Given the description of an element on the screen output the (x, y) to click on. 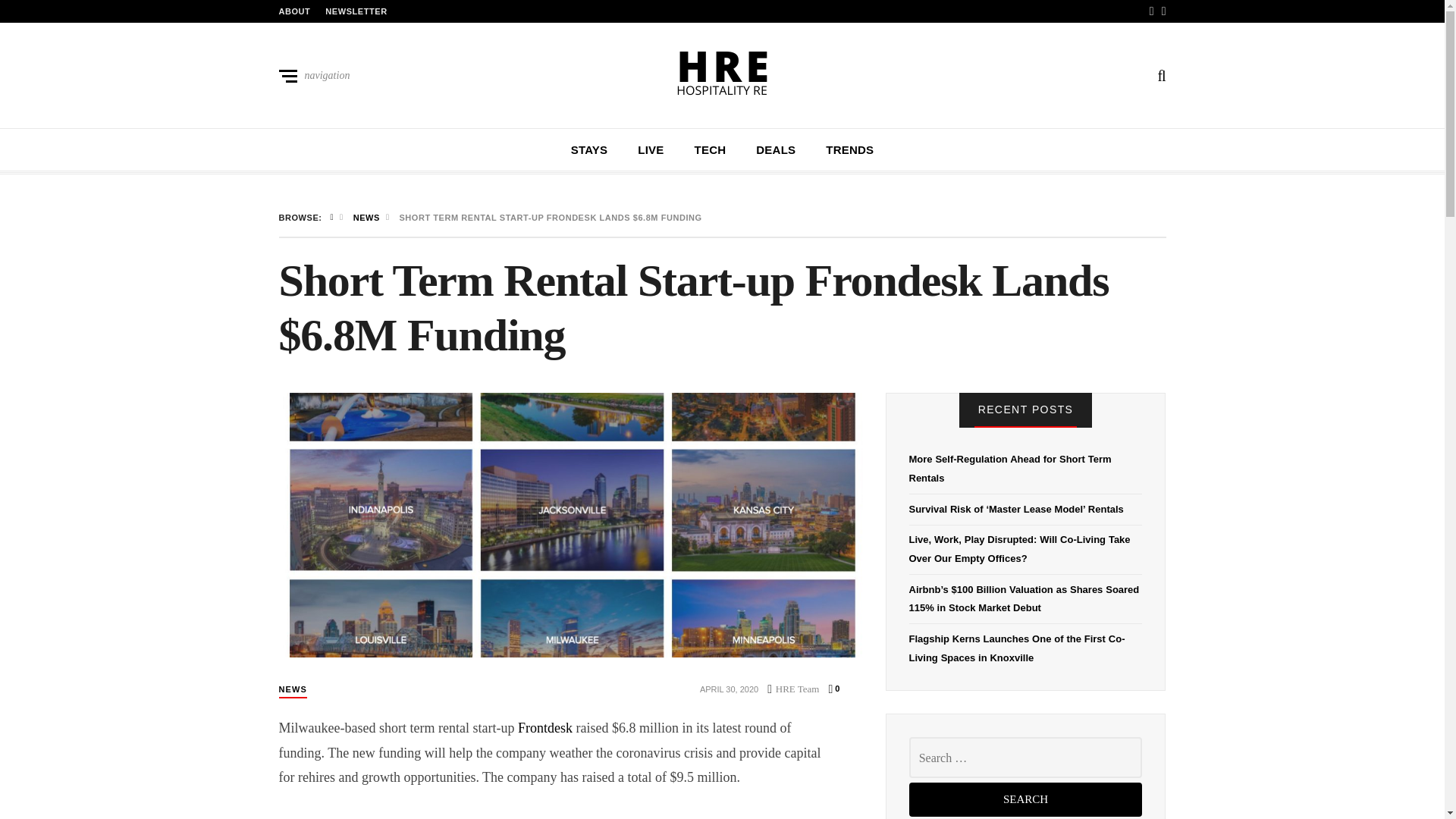
Search (1024, 799)
Search (1024, 799)
Search (907, 406)
Frontdesk (545, 727)
NEWS (366, 216)
ABOUT (295, 10)
TECH (710, 149)
LIVE (650, 149)
navigation (314, 75)
NEWSLETTER (355, 10)
TRENDS (849, 149)
STAYS (589, 149)
DEALS (774, 149)
HRE (721, 72)
NEWS (293, 689)
